Given the description of an element on the screen output the (x, y) to click on. 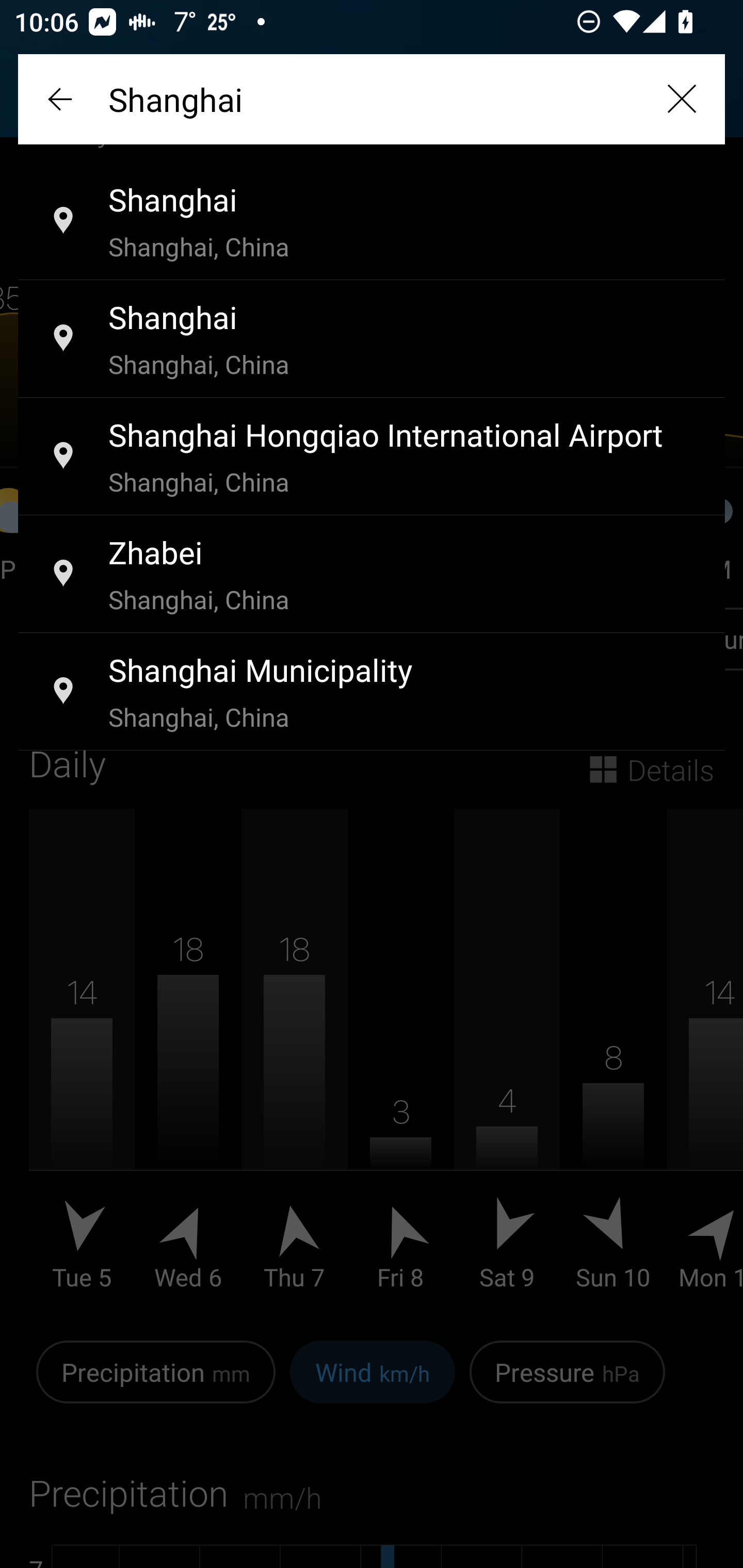
Shanghai (371, 99)
 (681, 99)
 (61, 99)
 Shanghai Shanghai, China (371, 221)
 Shanghai Shanghai, China (371, 339)
 Zhabei Shanghai, China (371, 574)
 Shanghai Municipality Shanghai, China (371, 692)
